Given the description of an element on the screen output the (x, y) to click on. 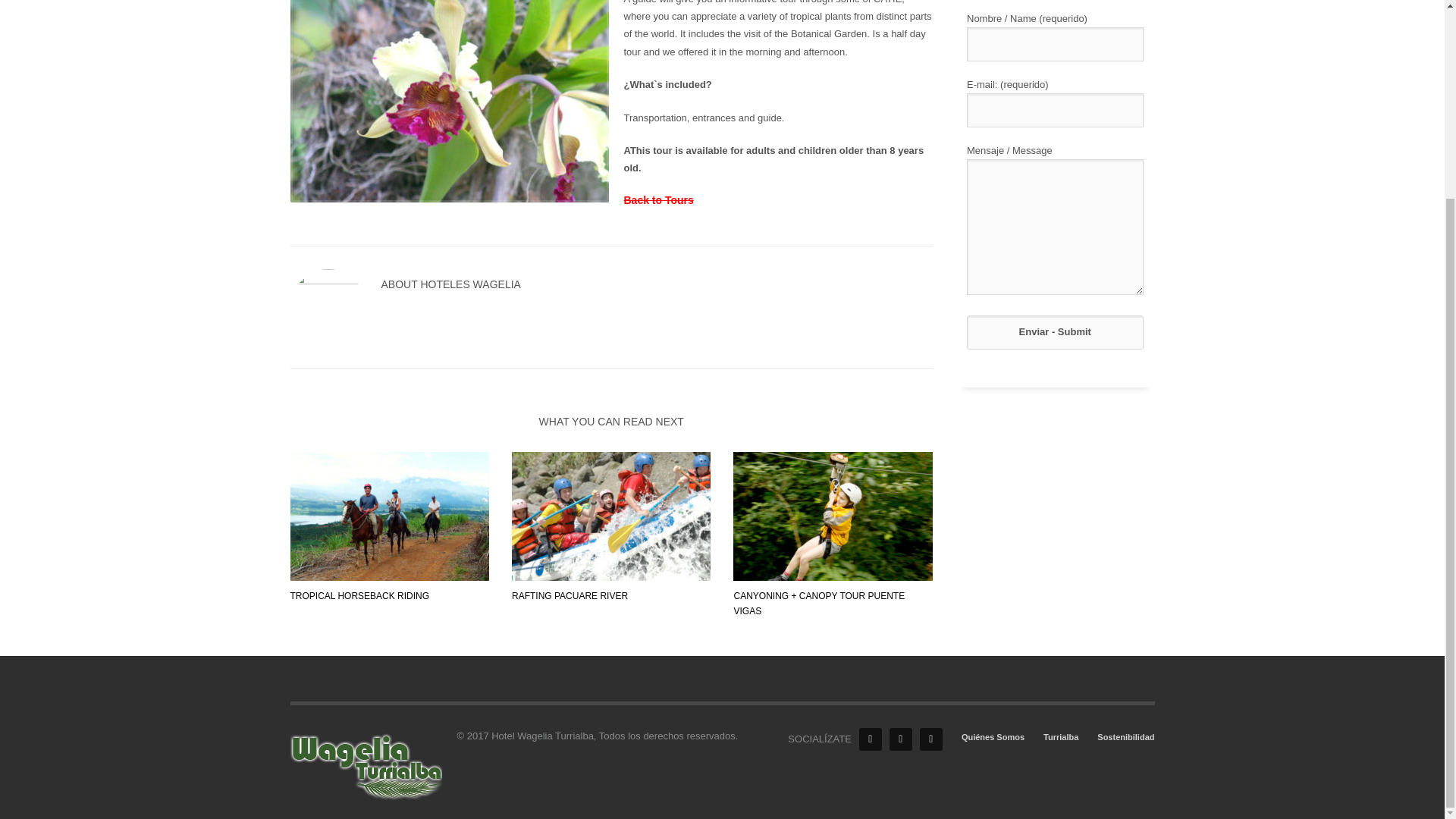
Back to Tours (658, 200)
Sostenibilidad (1125, 737)
RAFTING PACUARE RIVER (569, 595)
TROPICAL HORSEBACK RIDING (359, 595)
Enviar - Submit (1054, 332)
Turrialba (1060, 737)
Tours (658, 200)
Enviar - Submit (1054, 332)
